Given the description of an element on the screen output the (x, y) to click on. 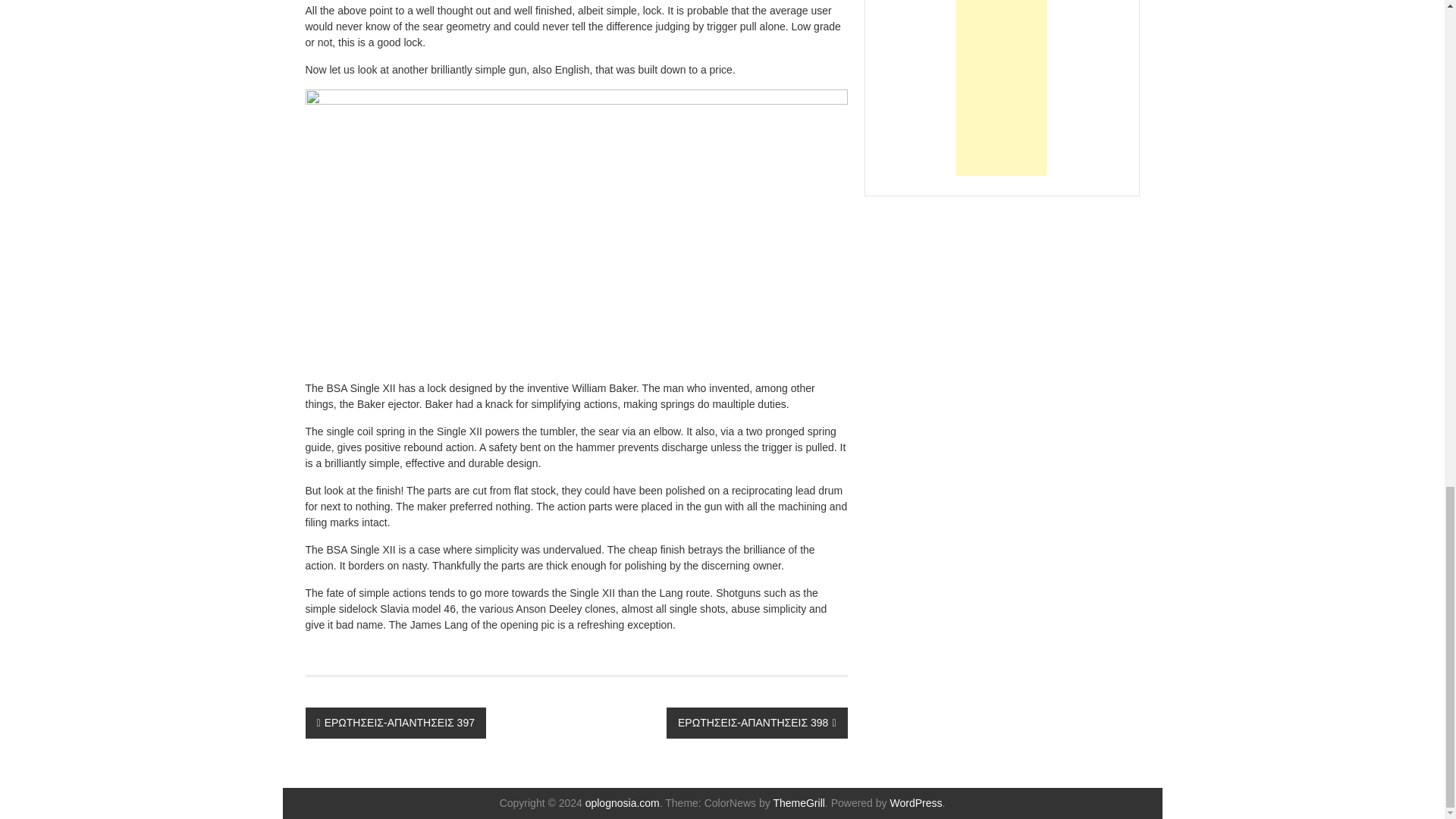
ThemeGrill (798, 802)
oplognosia.com (622, 802)
ThemeGrill (798, 802)
WordPress (915, 802)
WordPress (915, 802)
oplognosia.com (622, 802)
